Given the description of an element on the screen output the (x, y) to click on. 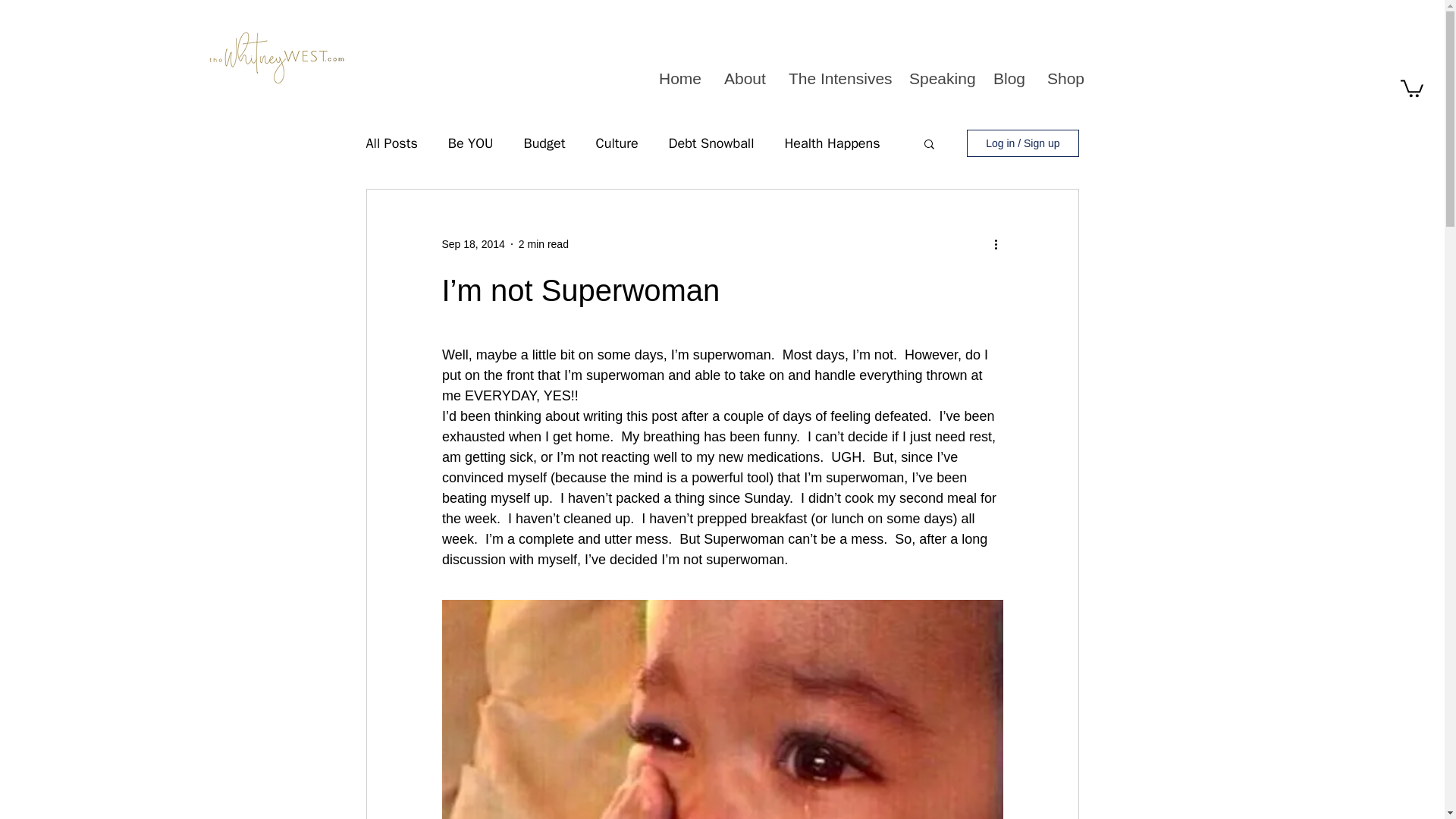
All Posts (390, 143)
Home (678, 78)
Sep 18, 2014 (472, 244)
Health Happens (831, 143)
About (743, 78)
Debt Snowball (711, 143)
2 min read (543, 244)
Be YOU (470, 143)
The Intensives (836, 78)
Blog (1008, 78)
